Given the description of an element on the screen output the (x, y) to click on. 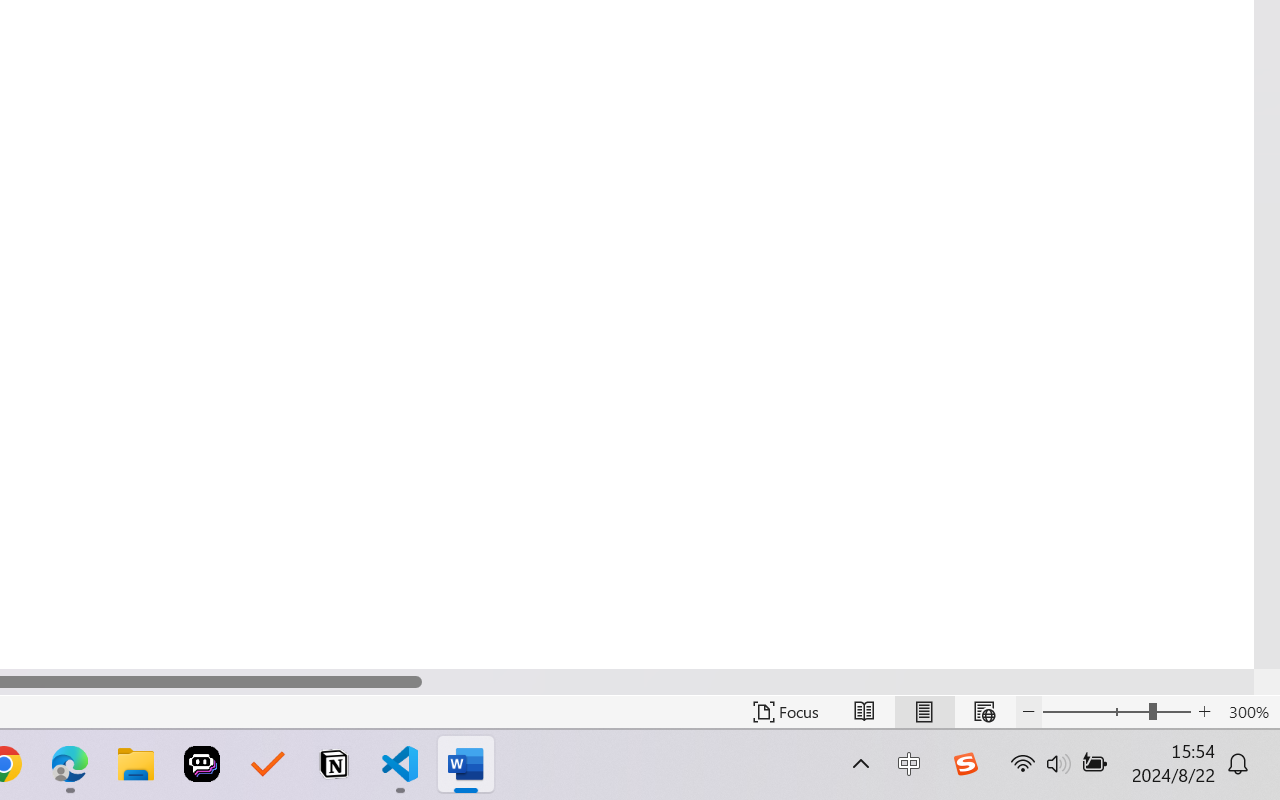
Print Layout (924, 712)
Zoom (1116, 712)
Focus  (786, 712)
Zoom 300% (1249, 712)
Read Mode (864, 712)
Web Layout (984, 712)
Class: Image (965, 764)
Zoom In (1204, 712)
Zoom Out (1095, 712)
